Given the description of an element on the screen output the (x, y) to click on. 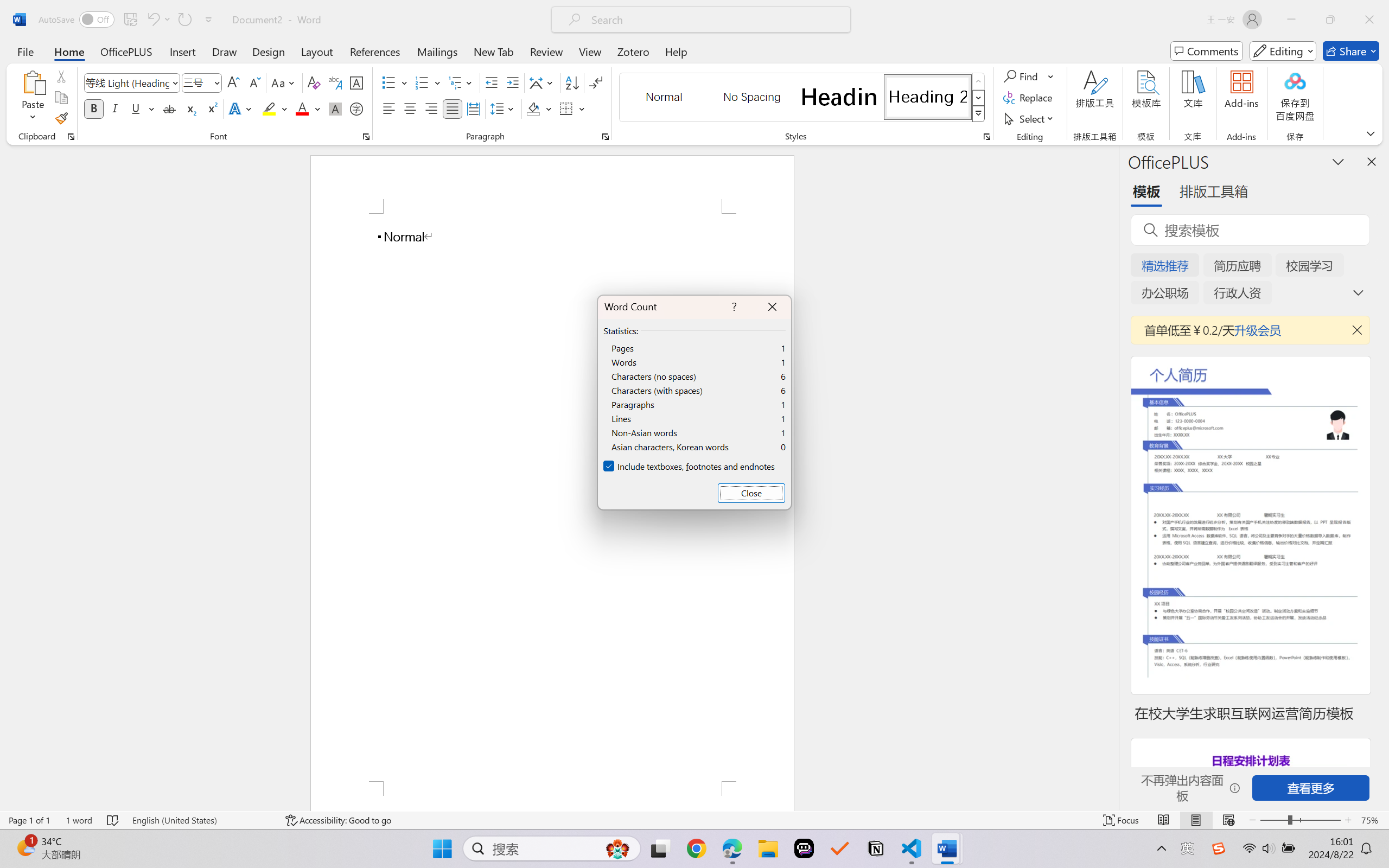
AutomationID: QuickStylesGallery (802, 97)
